Given the description of an element on the screen output the (x, y) to click on. 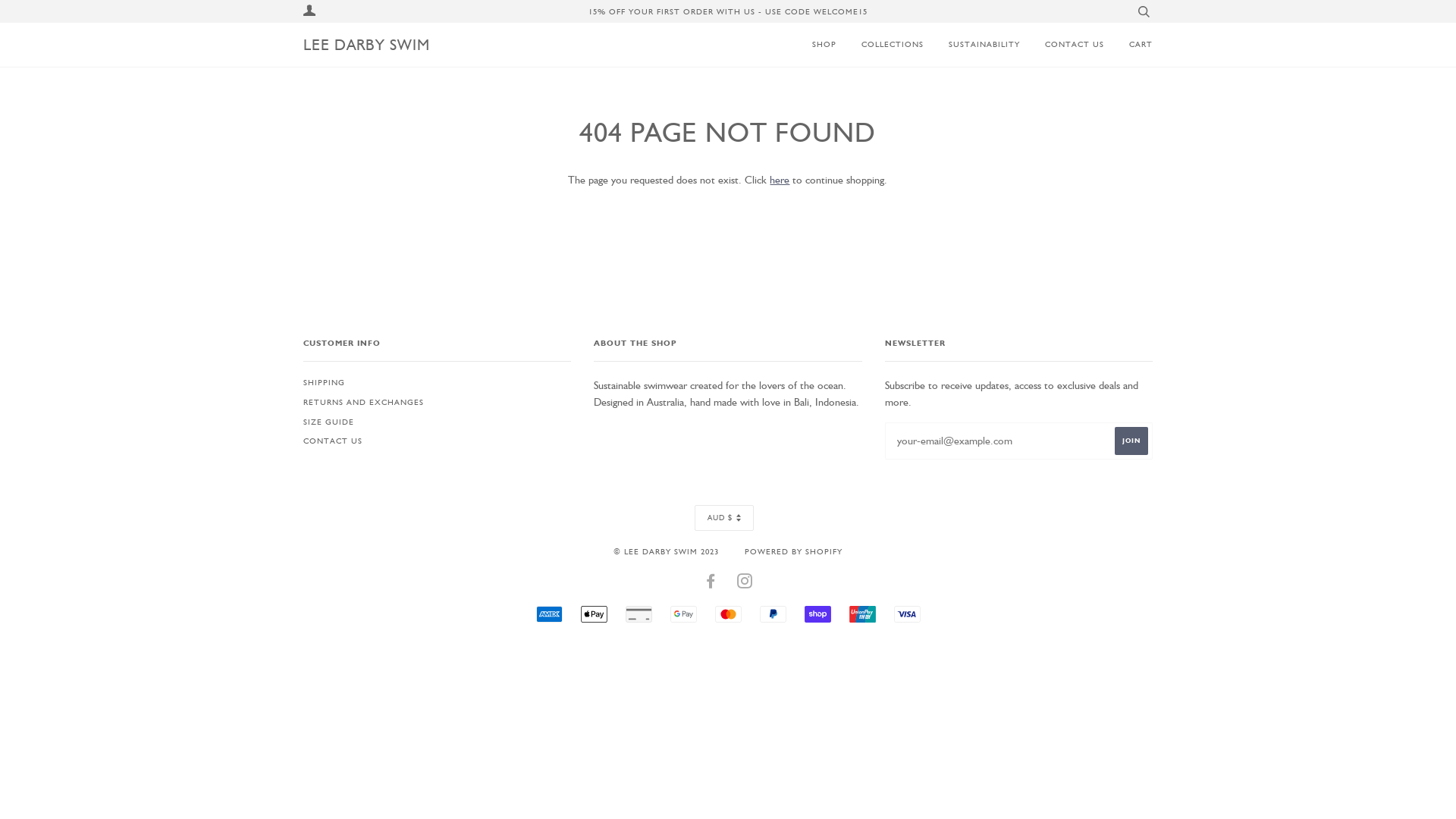
CONTACT US Element type: text (1063, 43)
Search Element type: hover (1142, 11)
SIZE GUIDE Element type: text (328, 421)
FACEBOOK Element type: text (710, 583)
COLLECTIONS Element type: text (880, 43)
here Element type: text (779, 179)
SHOP Element type: text (820, 43)
AUD $ Element type: text (723, 517)
POWERED BY SHOPIFY Element type: text (793, 551)
Join Element type: text (1131, 440)
CART Element type: text (1129, 43)
INSTAGRAM Element type: text (745, 583)
SUSTAINABILITY Element type: text (972, 43)
RETURNS AND EXCHANGES Element type: text (363, 401)
SHIPPING Element type: text (324, 381)
LEE DARBY SWIM Element type: text (366, 44)
CONTACT US Element type: text (332, 440)
